Given the description of an element on the screen output the (x, y) to click on. 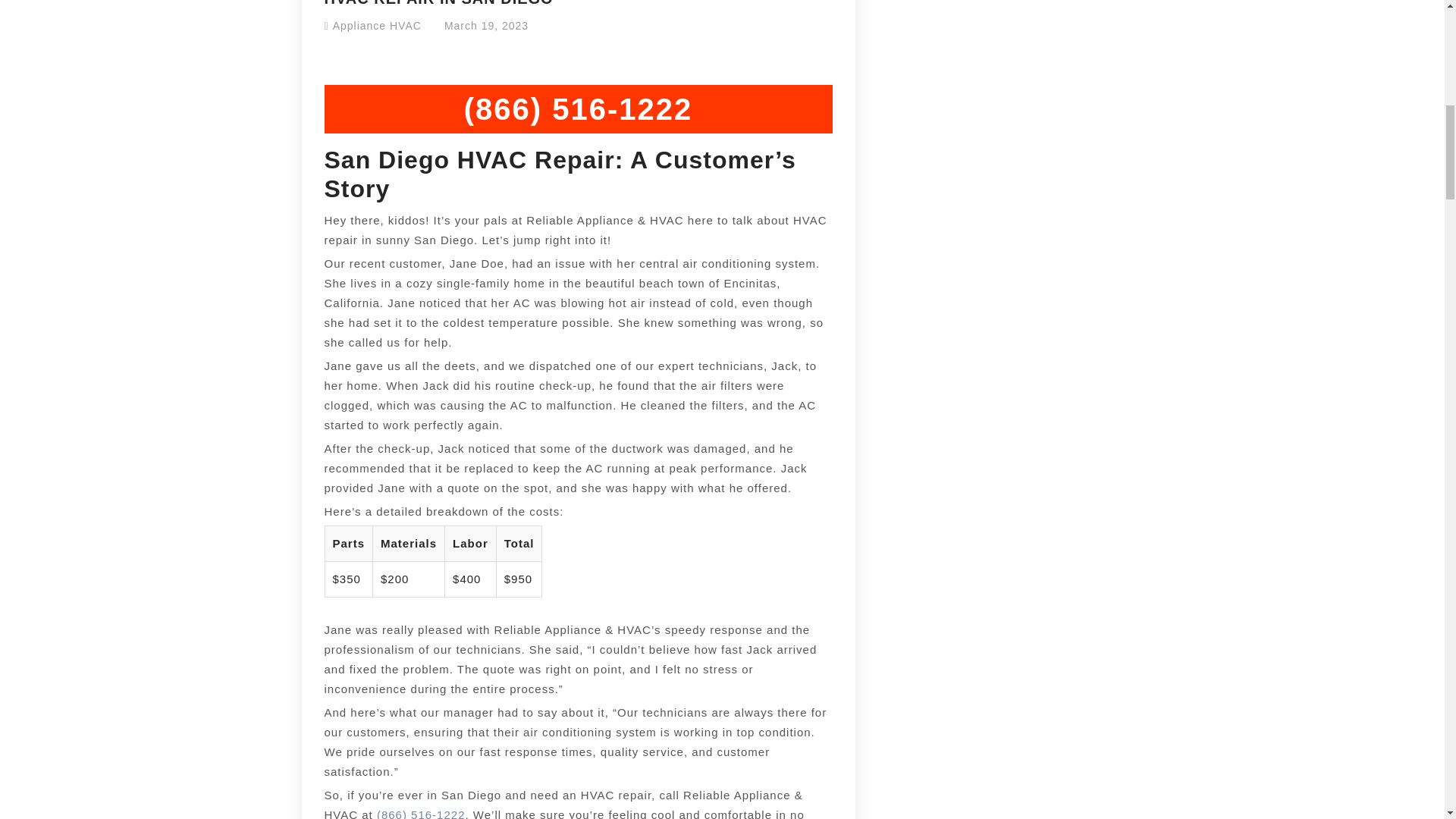
HVAC Repair in San Diego (421, 813)
March 19, 2023 (486, 25)
Appliance HVAC (377, 25)
